Given the description of an element on the screen output the (x, y) to click on. 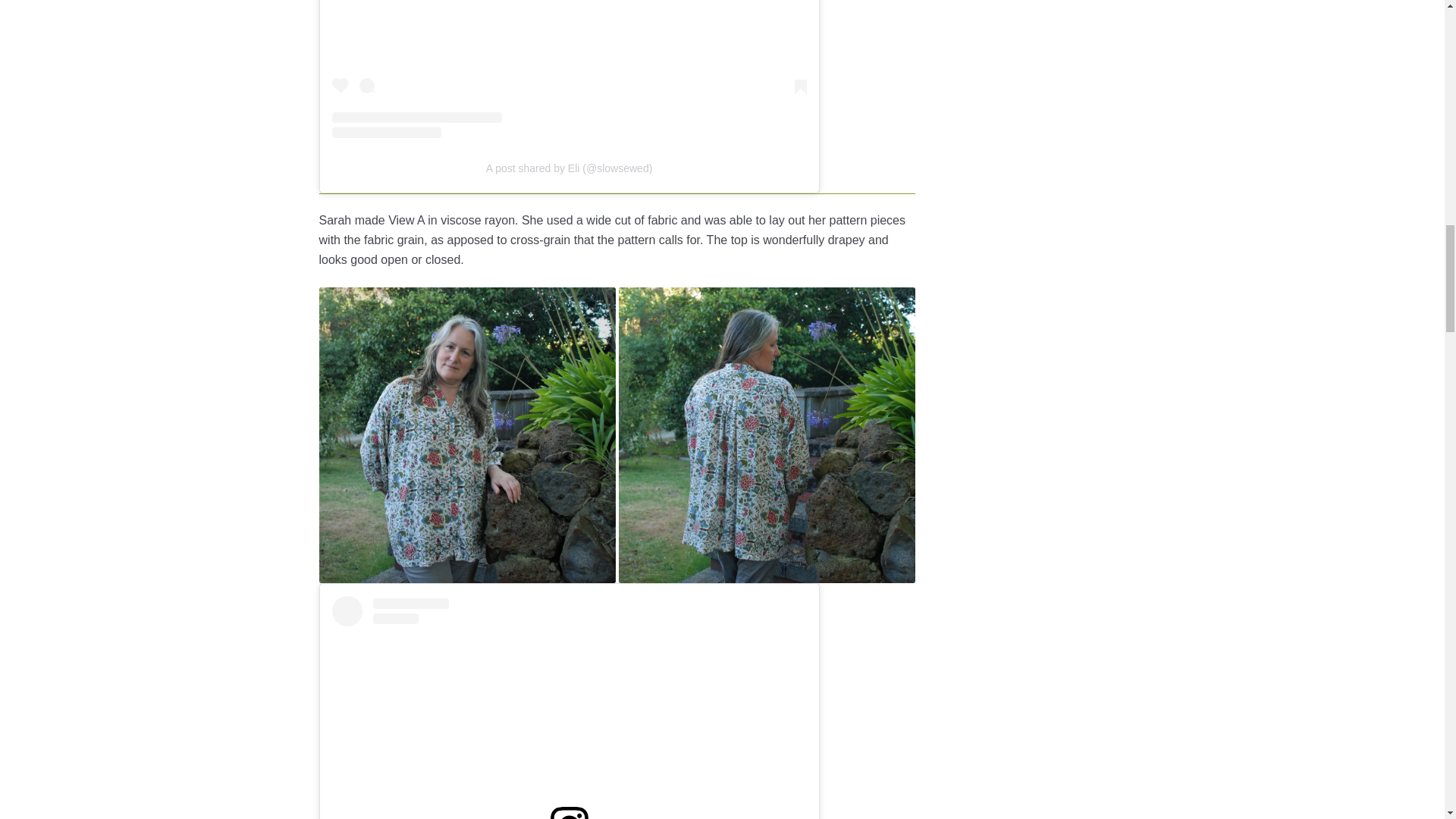
View this post on Instagram (568, 69)
View this post on Instagram (568, 707)
